Given the description of an element on the screen output the (x, y) to click on. 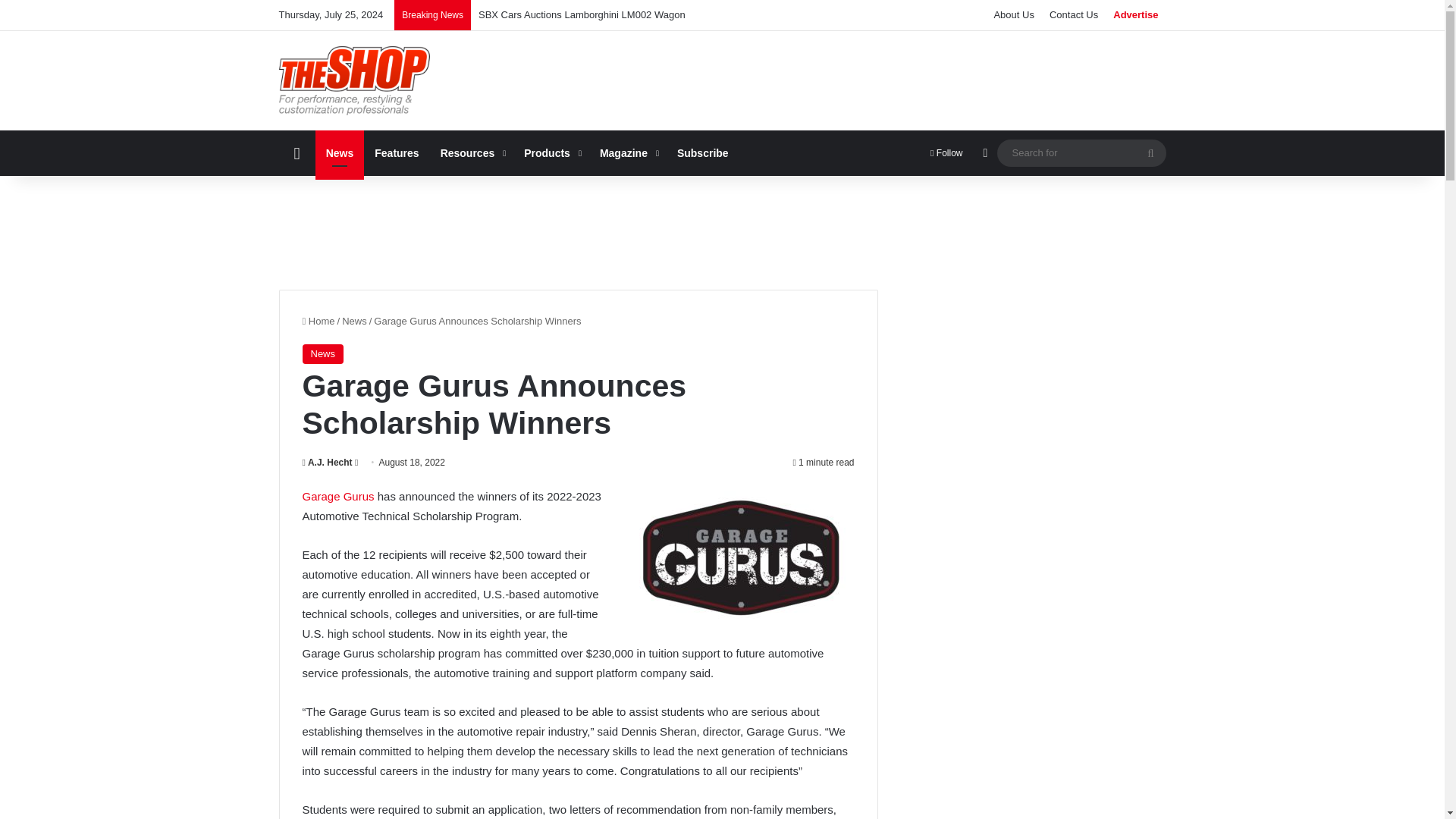
Search for (1150, 153)
Advertise (1135, 15)
A.J. Hecht (326, 462)
News (322, 353)
3rd party ad content (577, 232)
Contact Us (1073, 15)
Magazine (627, 153)
SBX Cars Auctions Lamborghini LM002 Wagon (582, 14)
A.J. Hecht (326, 462)
Subscribe (702, 153)
Features (396, 153)
News (354, 320)
Search for (1080, 152)
Products (551, 153)
Home (317, 320)
